Given the description of an element on the screen output the (x, y) to click on. 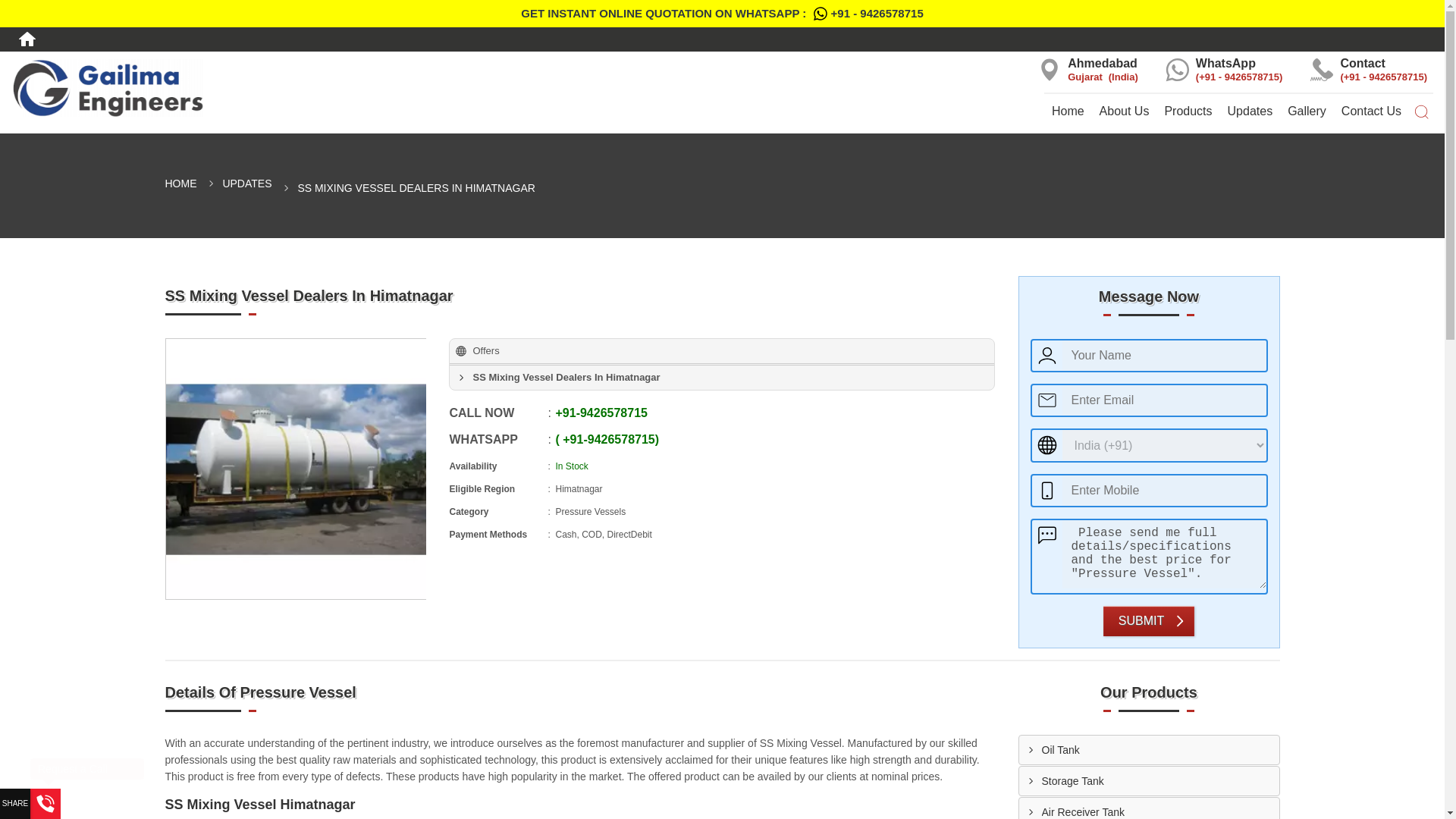
SS Mixing Vessel Dealers In Himatnagar (295, 468)
Products (1188, 111)
Contact Us (1371, 111)
Updates (1250, 111)
About Us (1124, 111)
Enter Your Mobile (1163, 490)
Gallery (1306, 111)
SUBMIT (1148, 620)
Enter Your Message (1163, 554)
HOME (180, 183)
Gailima Engineers (240, 87)
Enter Eour Email Address (240, 87)
Mobile Number (1163, 399)
UPDATES (600, 412)
